Given the description of an element on the screen output the (x, y) to click on. 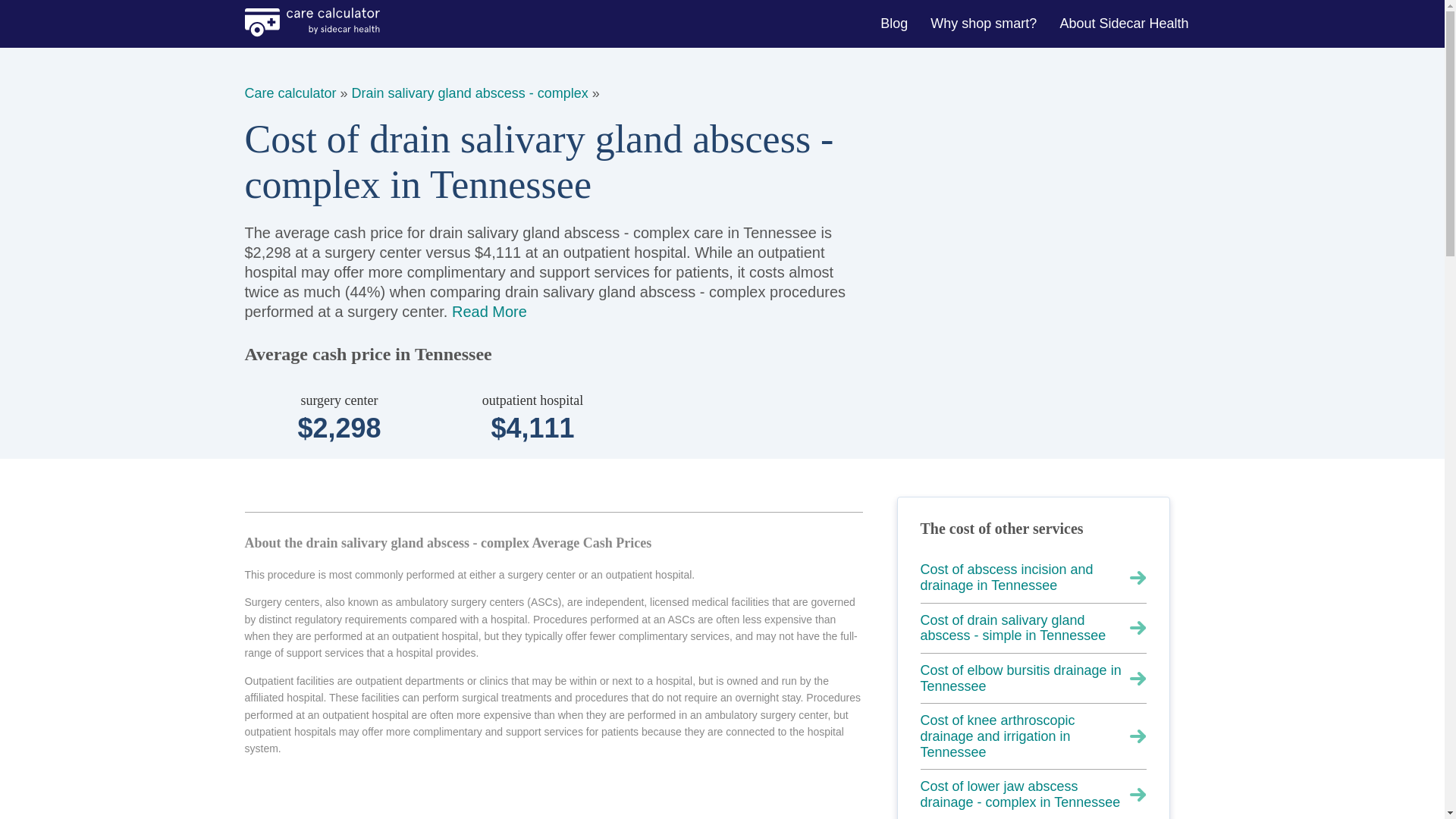
Blog (895, 23)
Cost of lower jaw abscess drainage - complex in Tennessee (1033, 794)
Cost of abscess incision and drainage in Tennessee (1033, 577)
Why shop smart? (985, 23)
Cost of elbow bursitis drainage in Tennessee (1033, 678)
About Sidecar Health (1125, 23)
Care calculator (290, 92)
Read More (489, 311)
Drain salivary gland abscess - complex (470, 92)
Cost of drain salivary gland abscess - simple in Tennessee (1033, 628)
